Given the description of an element on the screen output the (x, y) to click on. 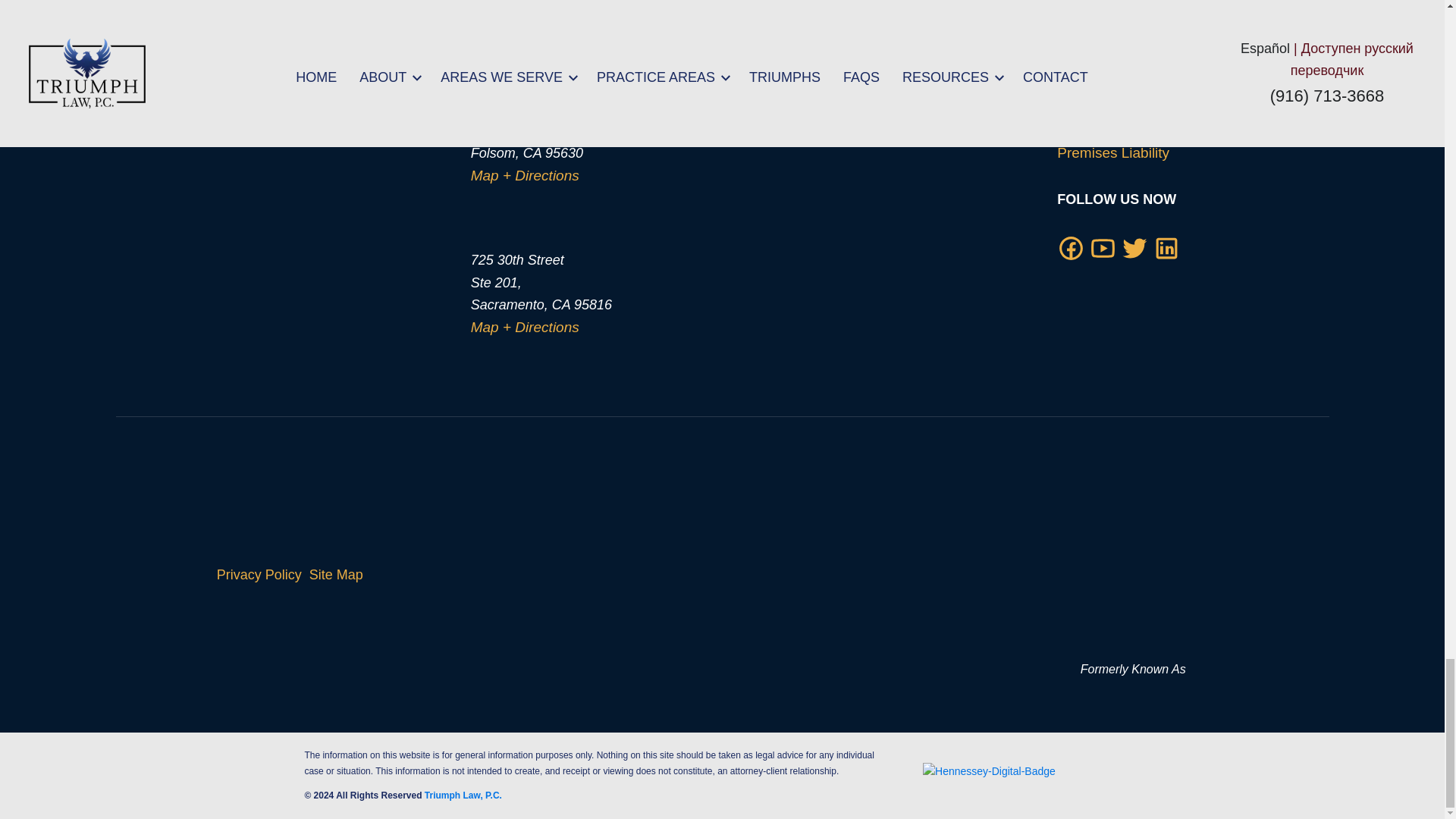
Triumph Law, P.C. in Sacramento (351, 302)
Site Map (335, 575)
Triumph Law, P.C. in Folsom (351, 127)
BBB Seal Award (699, 574)
Privacy Policy (258, 575)
Triumph Law, P.C. (1132, 565)
